Given the description of an element on the screen output the (x, y) to click on. 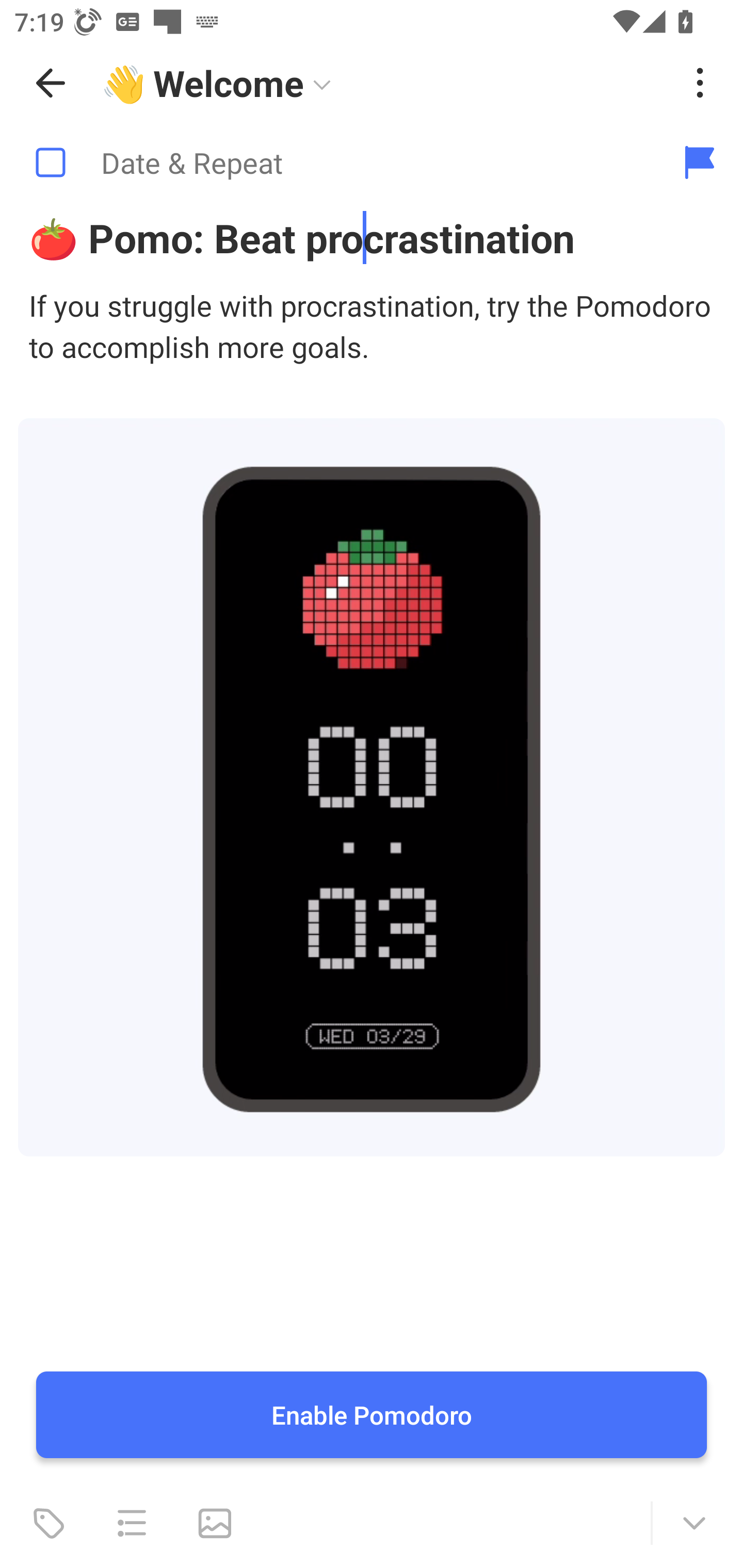
👋 Welcome (384, 82)
Date & Repeat (328, 163)
🍅 Pomo: Beat procrastination (371, 237)
Enable Pomodoro (371, 1415)
